Given the description of an element on the screen output the (x, y) to click on. 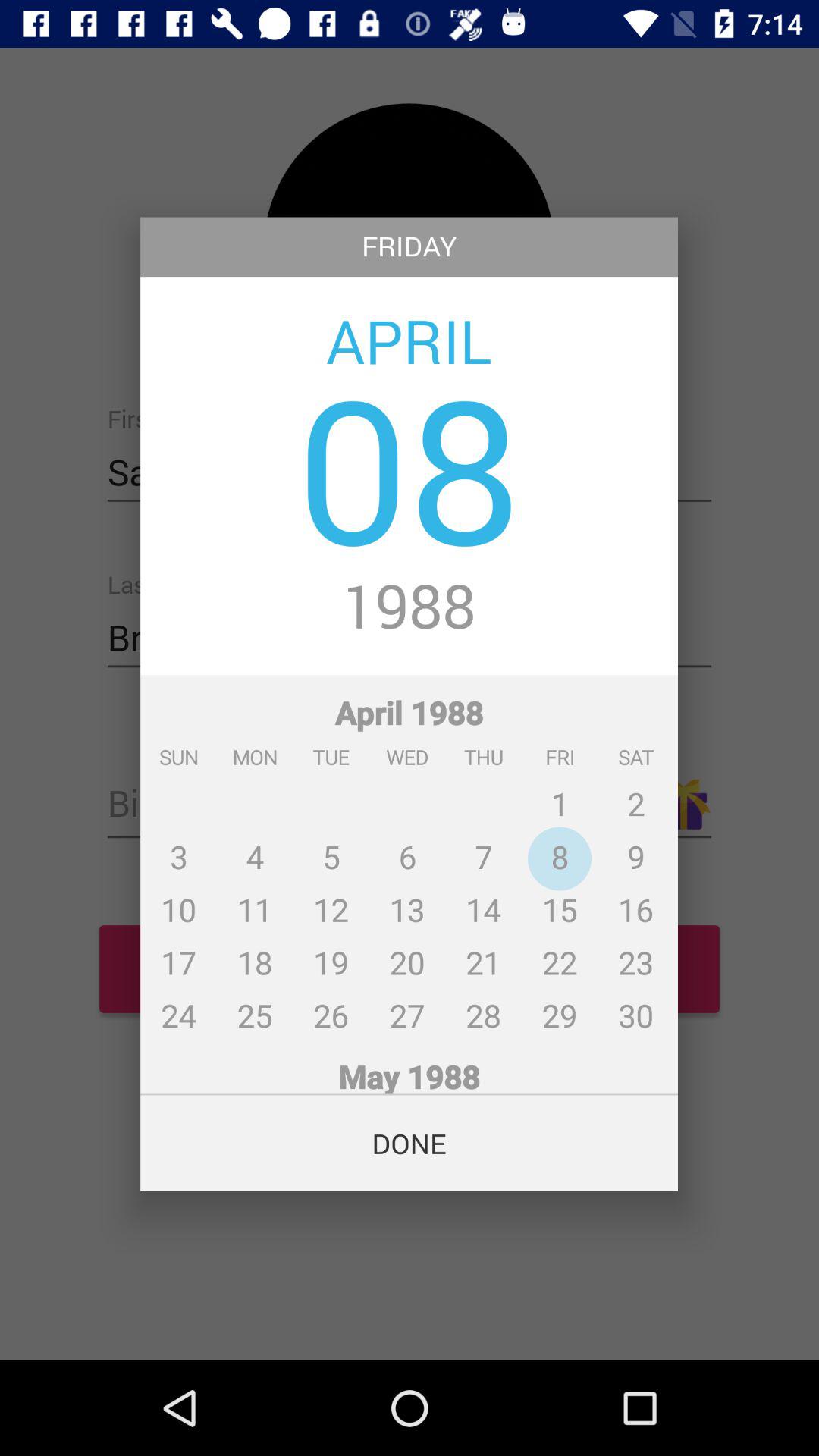
jump to the done (408, 1142)
